Given the description of an element on the screen output the (x, y) to click on. 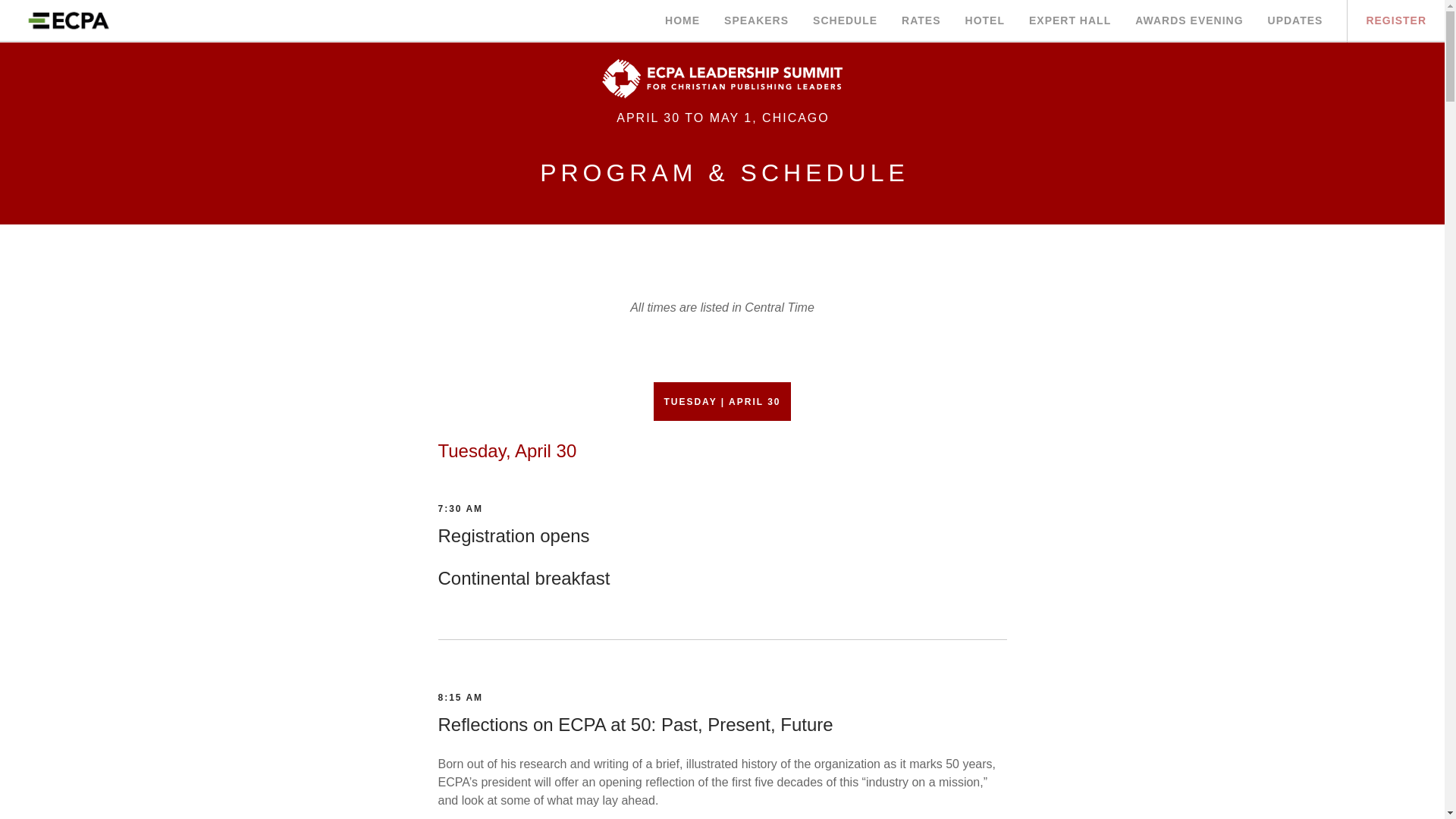
RATES (920, 21)
AWARDS EVENING (1189, 21)
EXPERT HALL (1069, 21)
SPEAKERS (756, 21)
HOTEL (984, 21)
SCHEDULE (844, 21)
REGISTER (1395, 21)
UPDATES (1295, 21)
